Given the description of an element on the screen output the (x, y) to click on. 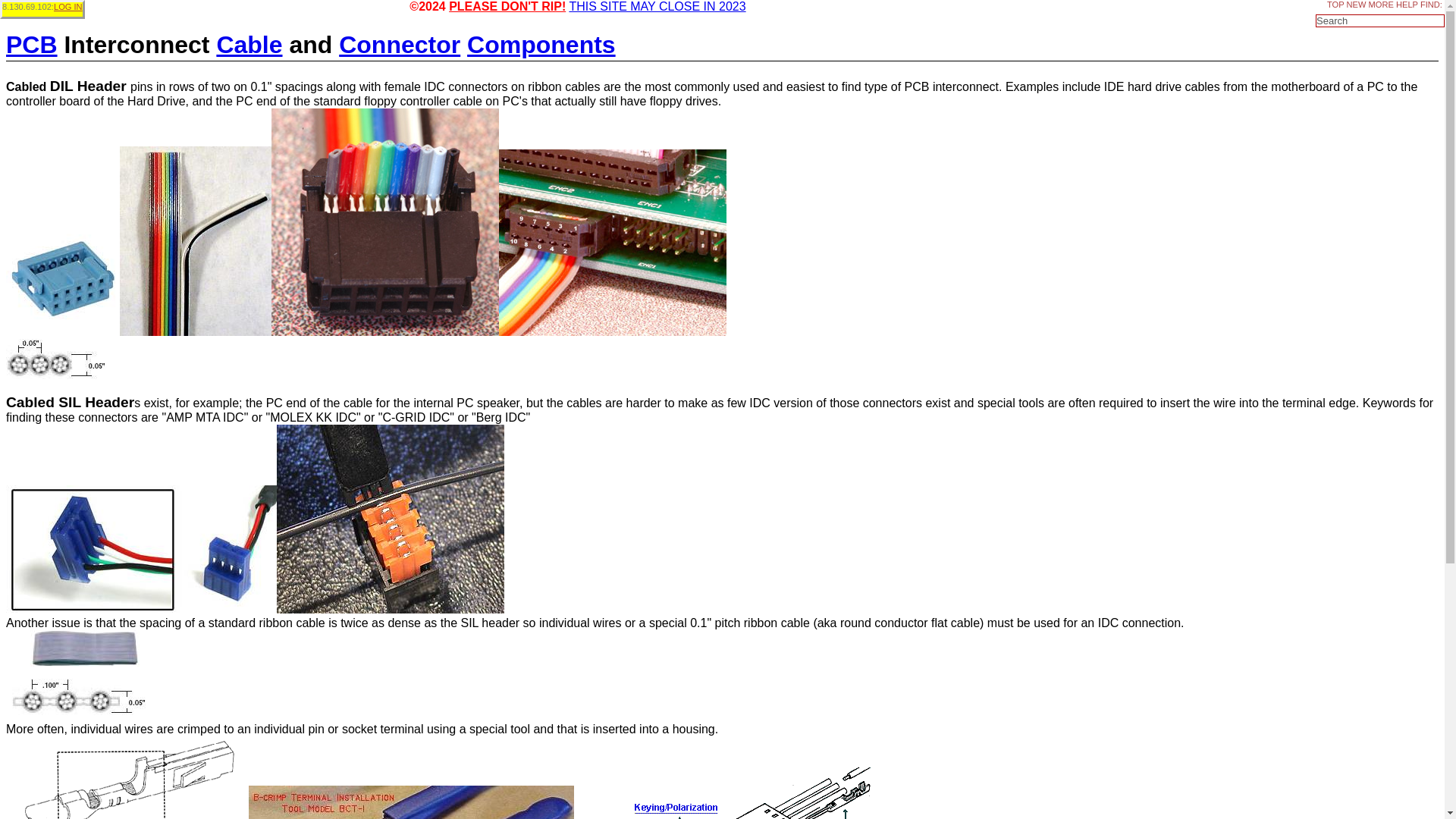
DIL (61, 86)
PLEASE DON'T RIP! (507, 6)
Insulation Displacement Connector (434, 86)
Single In Line (69, 401)
Monthly Change Log for the site (1356, 4)
Cable (248, 44)
Connector (399, 44)
Go to the top page (1334, 4)
LOG IN (67, 6)
